Given the description of an element on the screen output the (x, y) to click on. 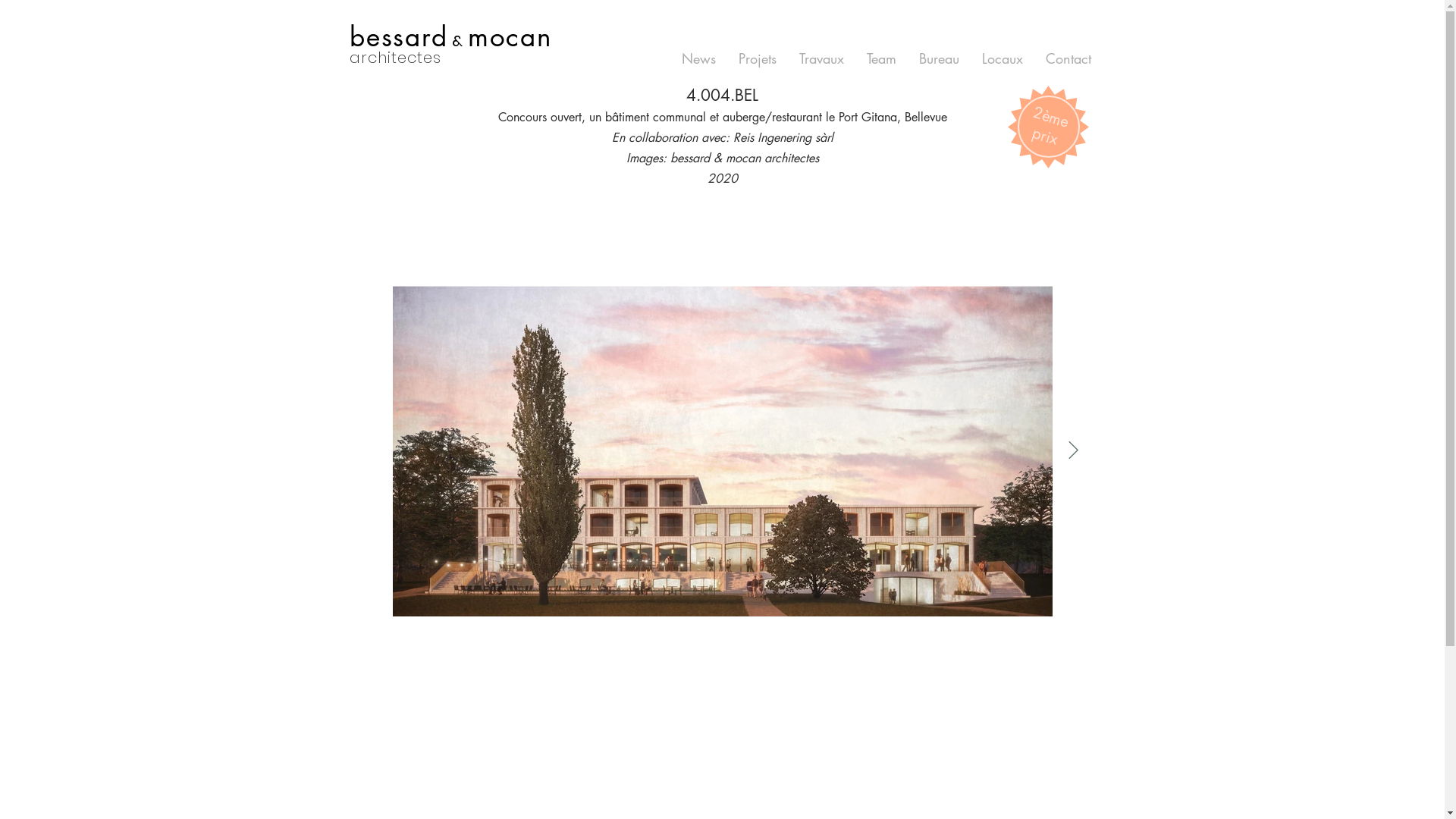
Travaux Element type: text (821, 58)
bessard & mocan Element type: text (450, 37)
Bureau Element type: text (938, 58)
Locaux Element type: text (1002, 58)
News Element type: text (698, 58)
Projets Element type: text (757, 58)
Contact Element type: text (1068, 58)
Team Element type: text (881, 58)
